Given the description of an element on the screen output the (x, y) to click on. 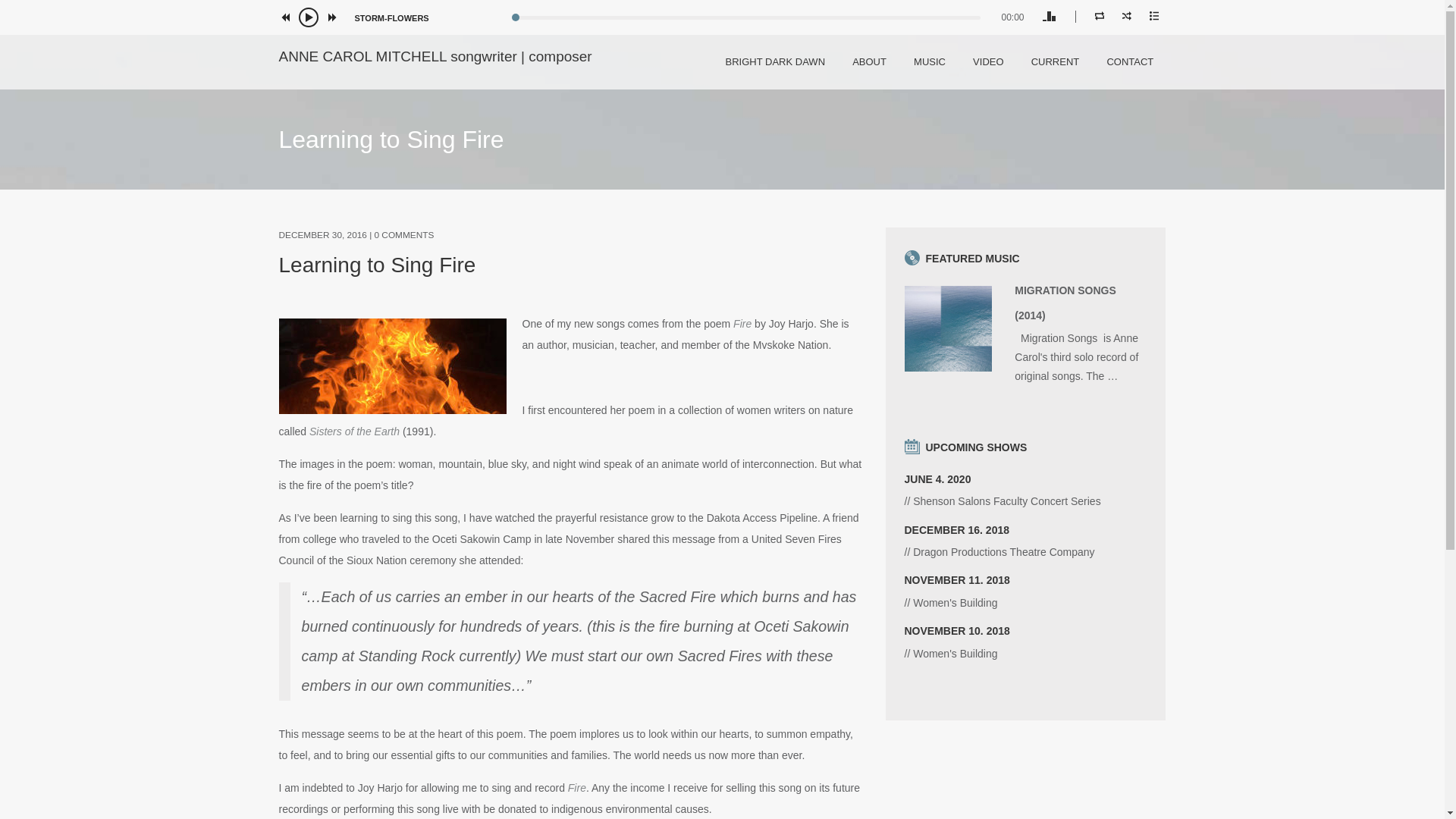
CURRENT (1055, 60)
BRIGHT DARK DAWN (775, 60)
Romantic Songs of the Patriarchy (1025, 639)
Lights in the Darkness-Creating to Heal (1025, 537)
VIDEO (987, 60)
Romantic Songs of the Patriarchy (1025, 588)
CONTACT (1129, 60)
MUSIC (929, 60)
ABOUT (868, 60)
